Given the description of an element on the screen output the (x, y) to click on. 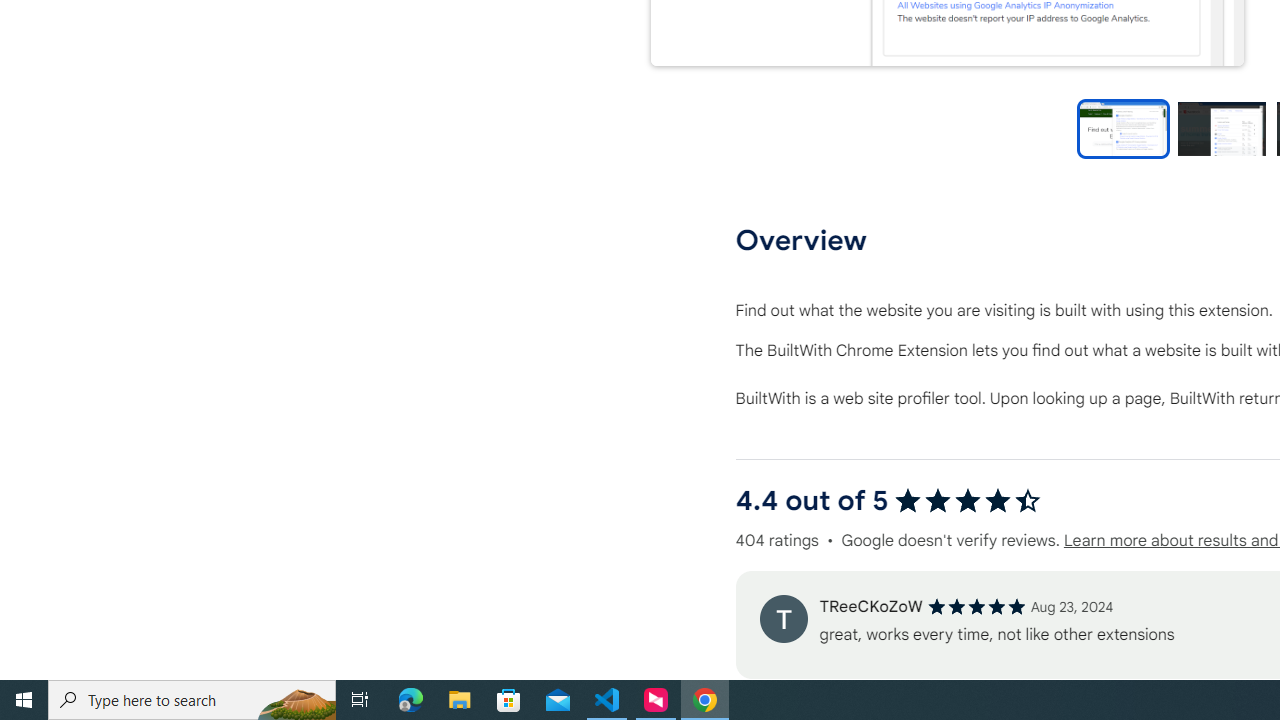
5 out of 5 stars (975, 606)
Review's profile picture (783, 618)
4.4 out of 5 stars (967, 500)
Preview slide 1 (1123, 128)
Preview slide 2 (1221, 128)
